Given the description of an element on the screen output the (x, y) to click on. 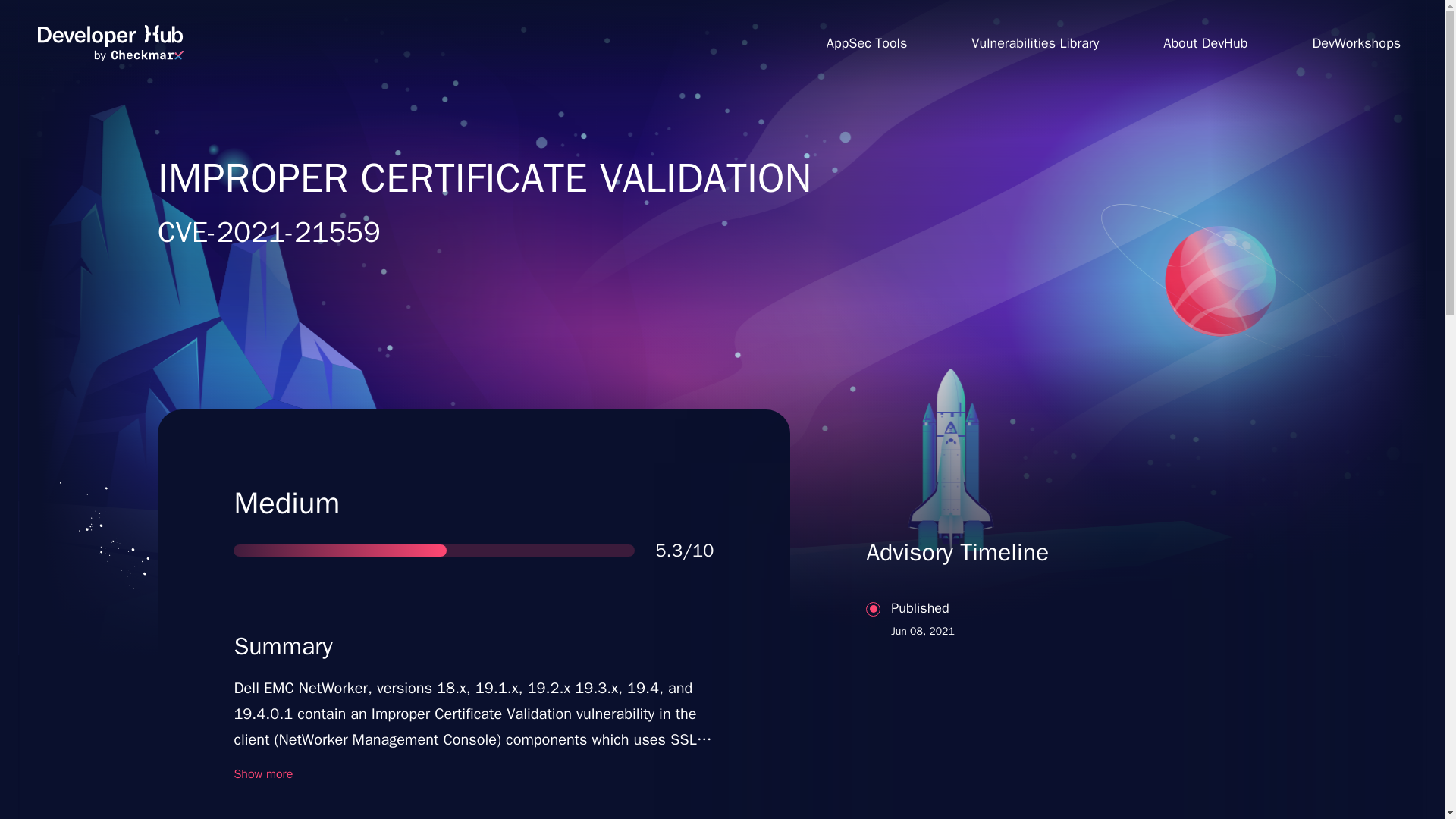
DevWorkshops (1037, 678)
About DevHub (1356, 43)
Vulnerabilities Library (1205, 43)
Show more (1035, 43)
AppSec Tools (262, 773)
Goto website home page (866, 43)
